Given the description of an element on the screen output the (x, y) to click on. 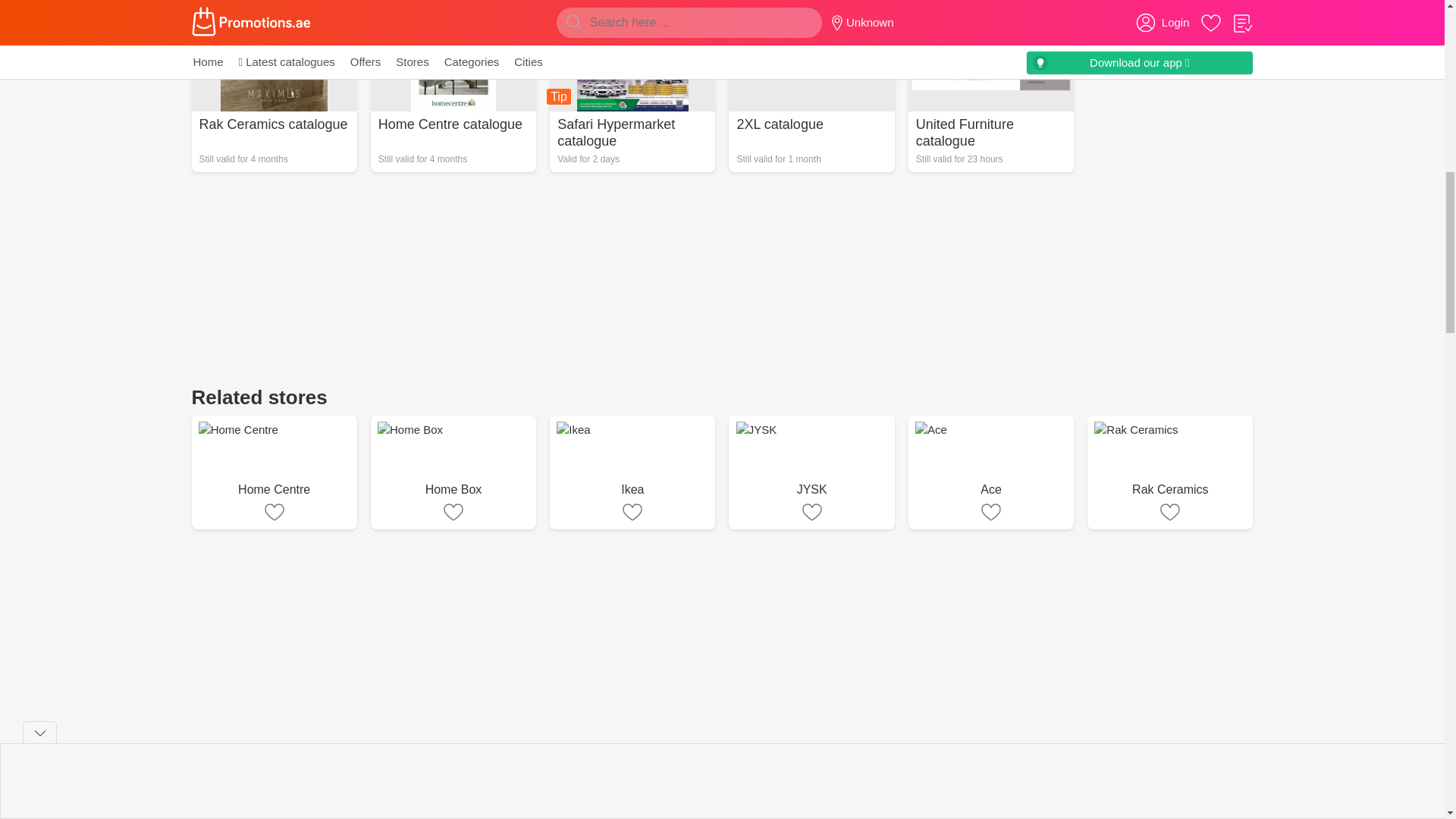
Home Centre (273, 472)
Ikea (632, 472)
Home Box (453, 472)
Rak Ceramics (1169, 472)
Home Box (453, 85)
JYSK (453, 472)
Home Centre (811, 472)
Ace (632, 85)
Ikea (273, 472)
JYSK (991, 472)
